Given the description of an element on the screen output the (x, y) to click on. 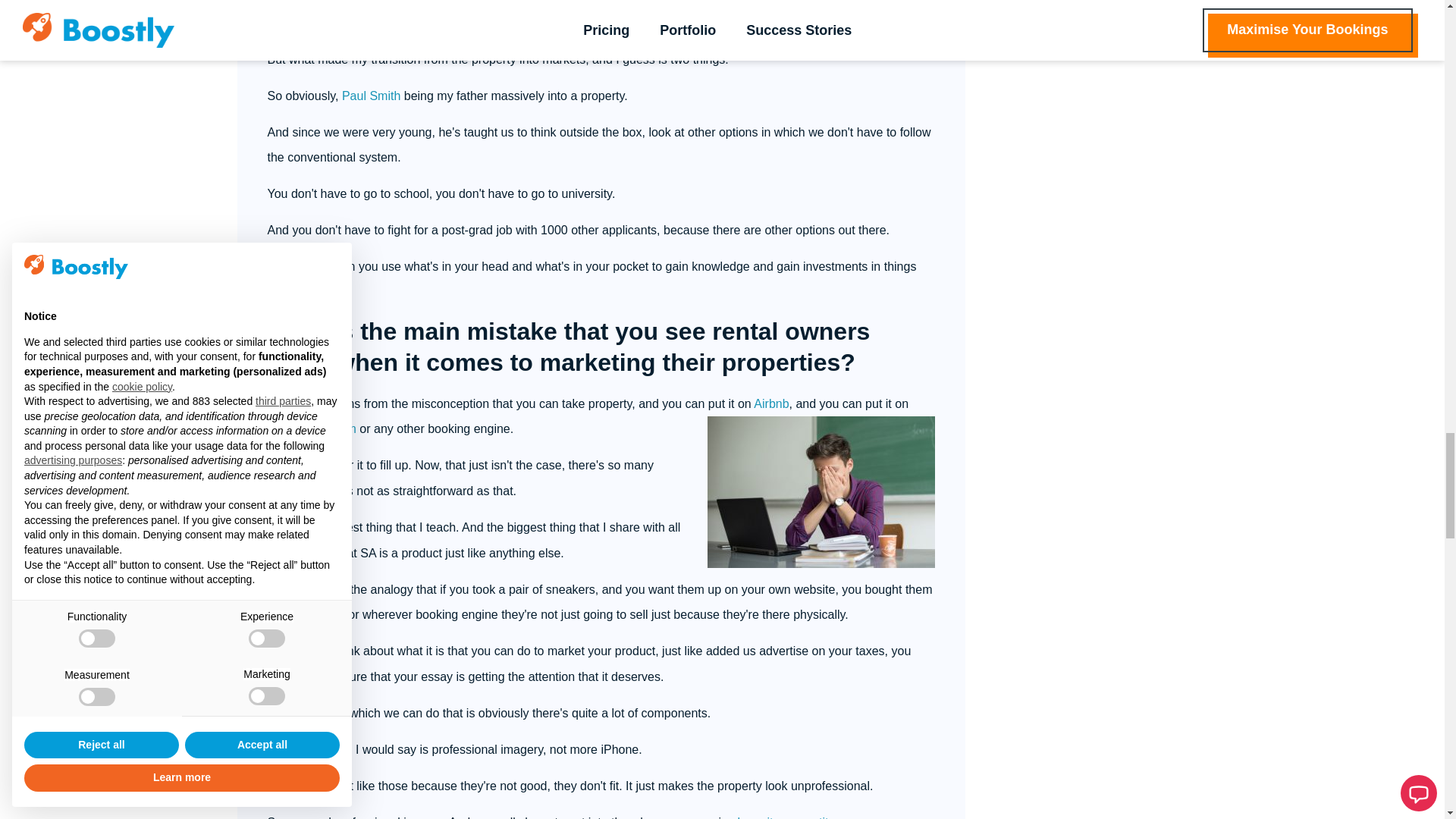
Paul Smith (371, 95)
booking dot com (312, 428)
Airbnb (771, 403)
Amazon (322, 614)
